Given the description of an element on the screen output the (x, y) to click on. 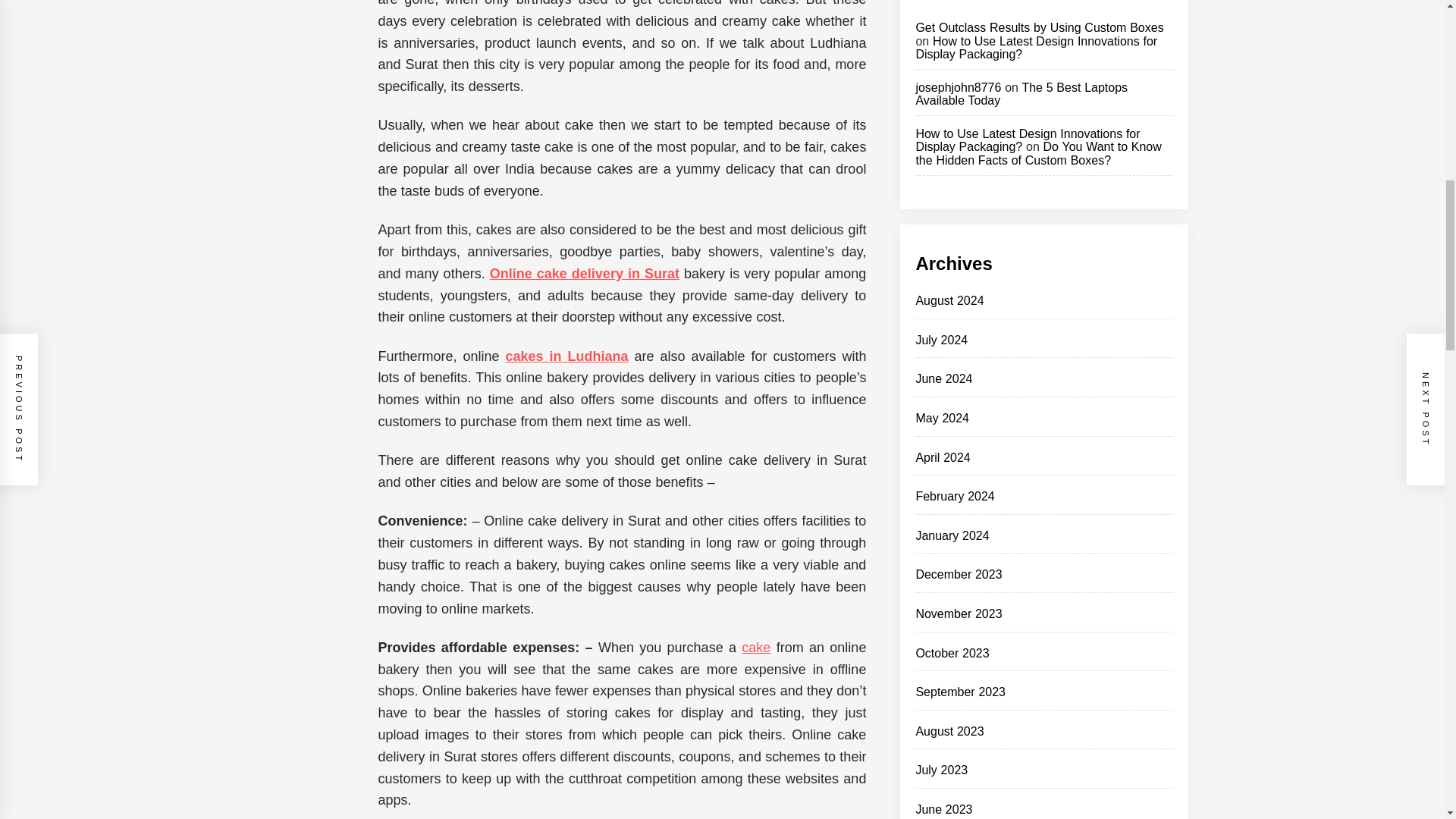
cake (755, 647)
Online cake delivery in Surat (584, 273)
cakes in Ludhiana (566, 355)
